Given the description of an element on the screen output the (x, y) to click on. 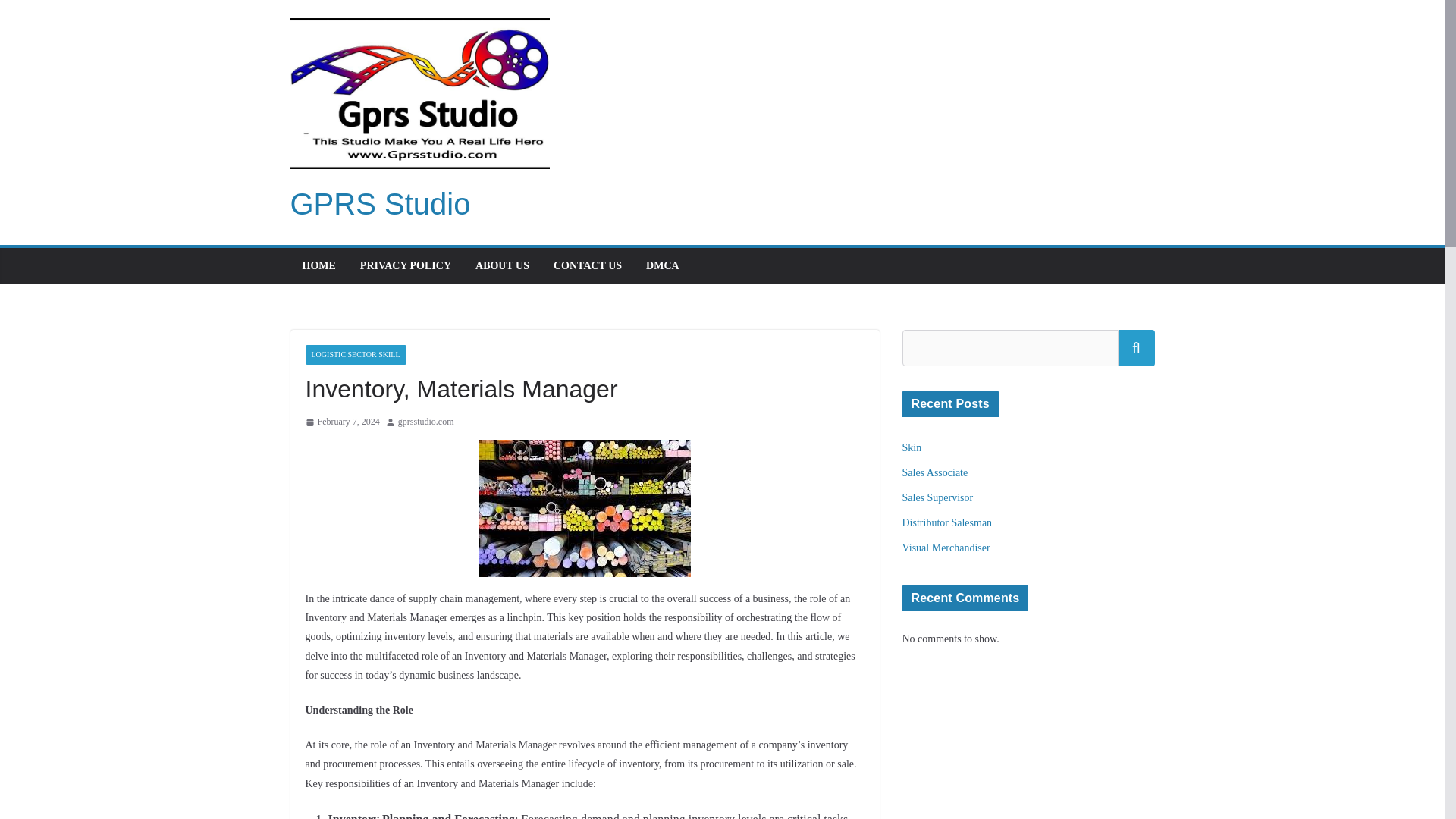
gprsstudio.com (425, 422)
gprsstudio.com (425, 422)
February 7, 2024 (341, 422)
10:58 am (341, 422)
PRIVACY POLICY (405, 265)
Sales Associate (935, 472)
Visual Merchandiser (946, 547)
ABOUT US (502, 265)
CONTACT US (587, 265)
HOME (317, 265)
DMCA (662, 265)
LOGISTIC SECTOR SKILL (355, 354)
Sales Supervisor (938, 497)
GPRS Studio (379, 203)
GPRS Studio (379, 203)
